Given the description of an element on the screen output the (x, y) to click on. 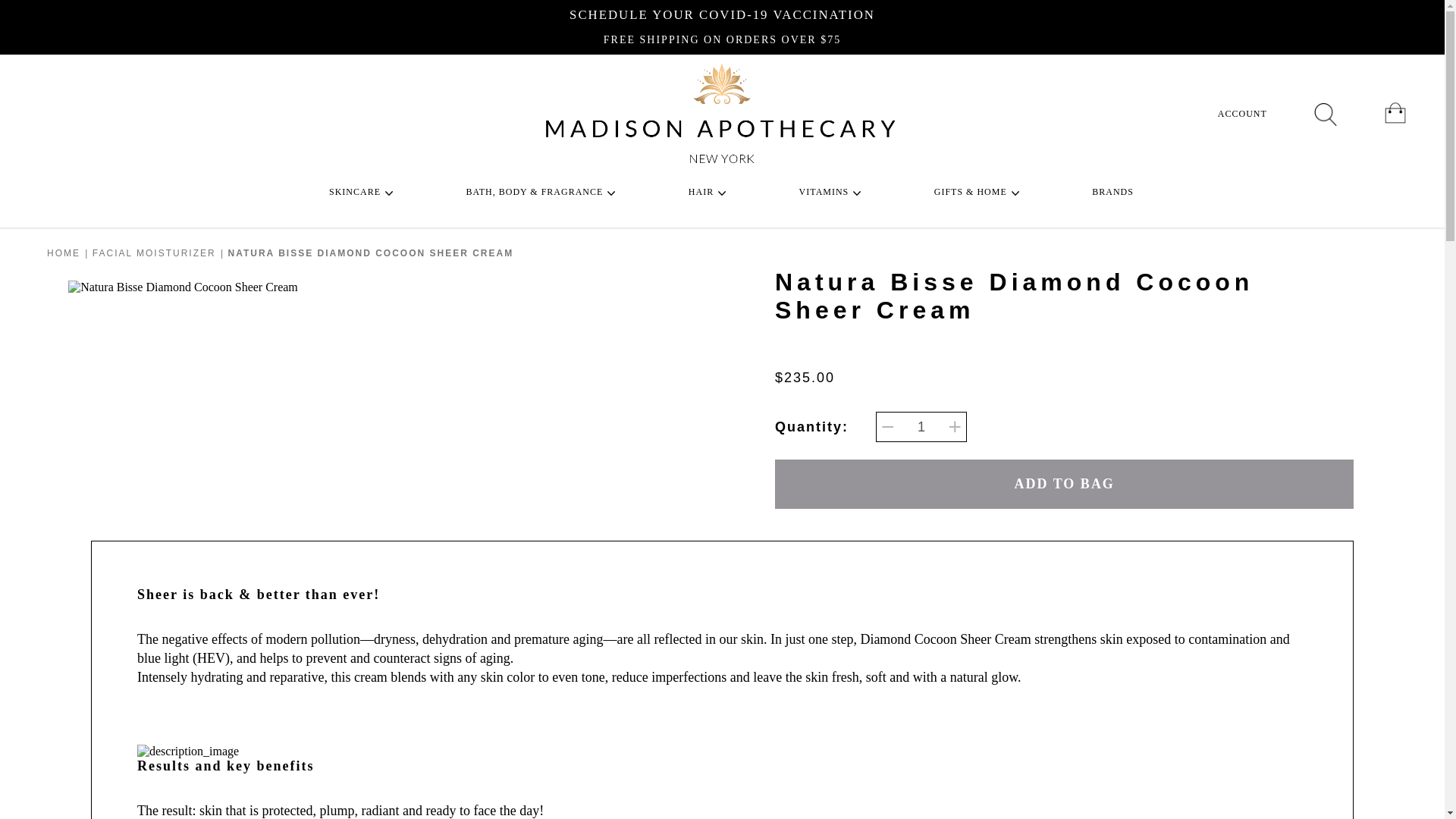
SCHEDULE YOUR COVID-19 VACCINATION (722, 14)
home (63, 253)
1 (920, 426)
